Given the description of an element on the screen output the (x, y) to click on. 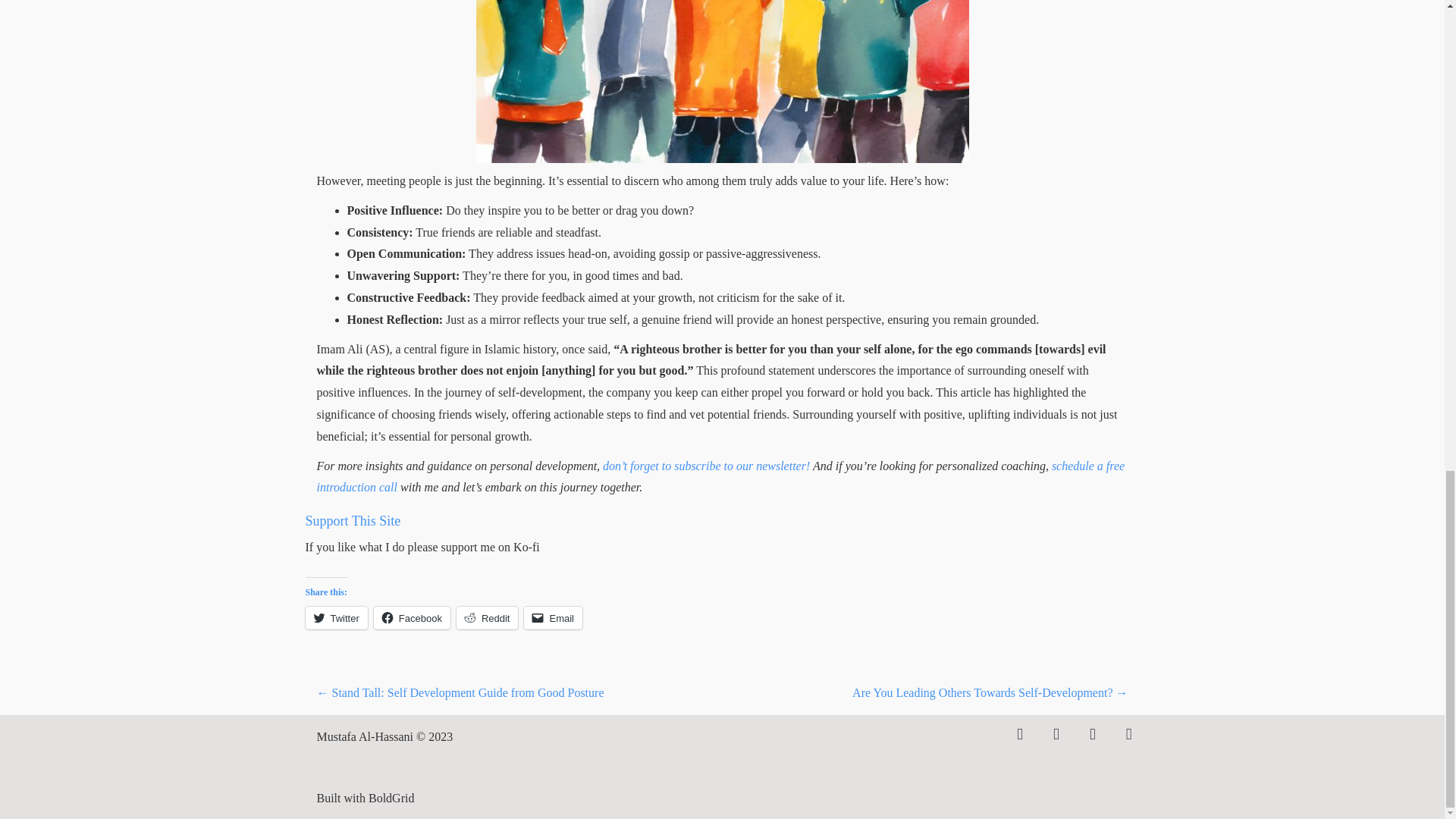
schedule a free introduction call (721, 476)
BoldGrid (390, 797)
Click to share on Reddit (487, 617)
Email (553, 617)
Click to email a link to a friend (553, 617)
Click to share on Twitter (335, 617)
Facebook (411, 617)
instagram (1092, 733)
Click to share on Facebook (411, 617)
Twitter (335, 617)
twitter (1019, 733)
Reddit (487, 617)
linkedin (1056, 733)
